Given the description of an element on the screen output the (x, y) to click on. 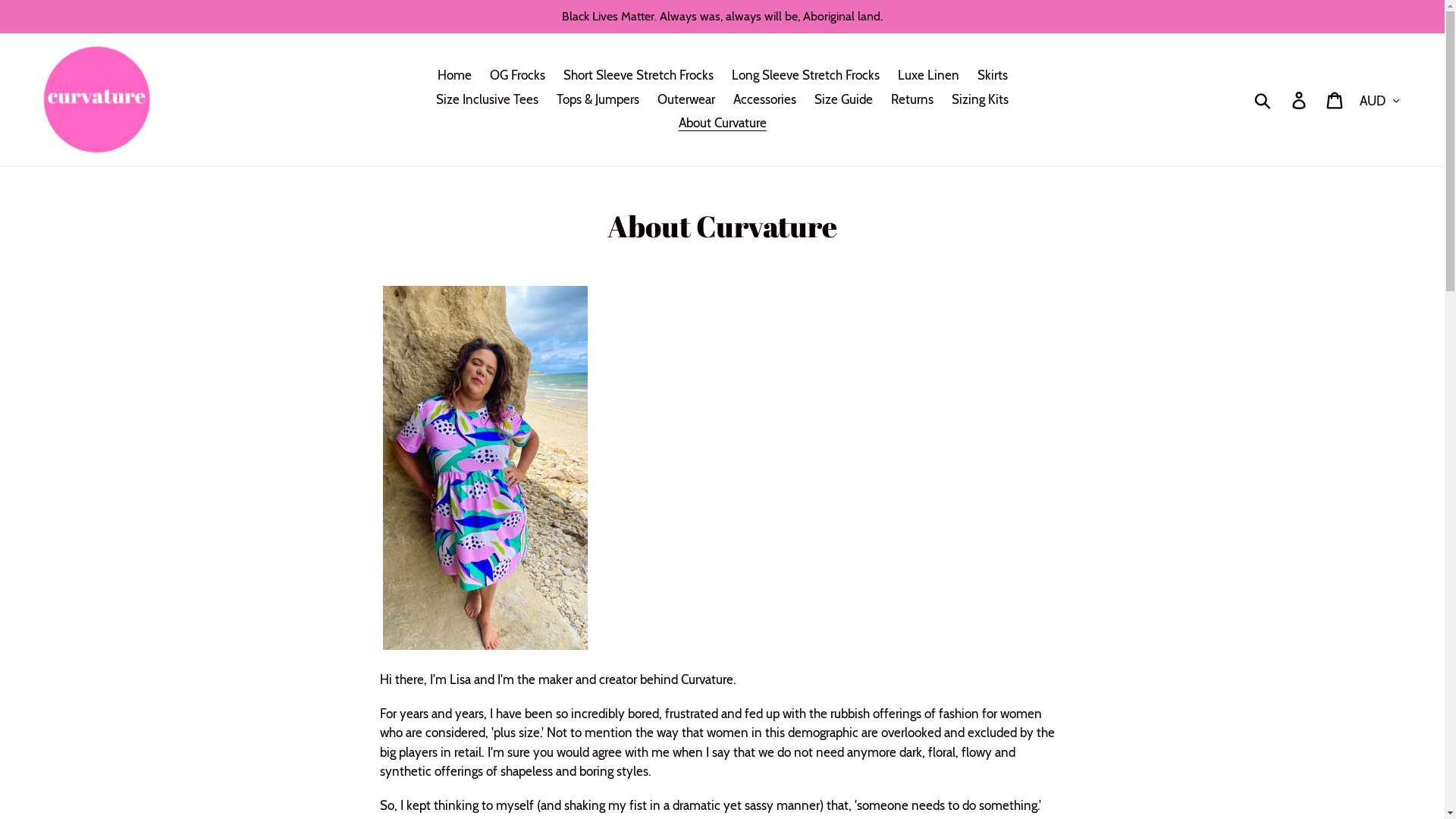
Cart Element type: text (1335, 99)
Submit Element type: text (1263, 99)
Skirts Element type: text (991, 75)
Log in Element type: text (1299, 99)
Accessories Element type: text (764, 99)
About Curvature Element type: text (721, 123)
Returns Element type: text (912, 99)
Luxe Linen Element type: text (928, 75)
Sizing Kits Element type: text (980, 99)
Size Guide Element type: text (843, 99)
Outerwear Element type: text (685, 99)
Long Sleeve Stretch Frocks Element type: text (804, 75)
Short Sleeve Stretch Frocks Element type: text (637, 75)
OG Frocks Element type: text (517, 75)
Size Inclusive Tees Element type: text (487, 99)
Home Element type: text (453, 75)
Tops & Jumpers Element type: text (597, 99)
